Given the description of an element on the screen output the (x, y) to click on. 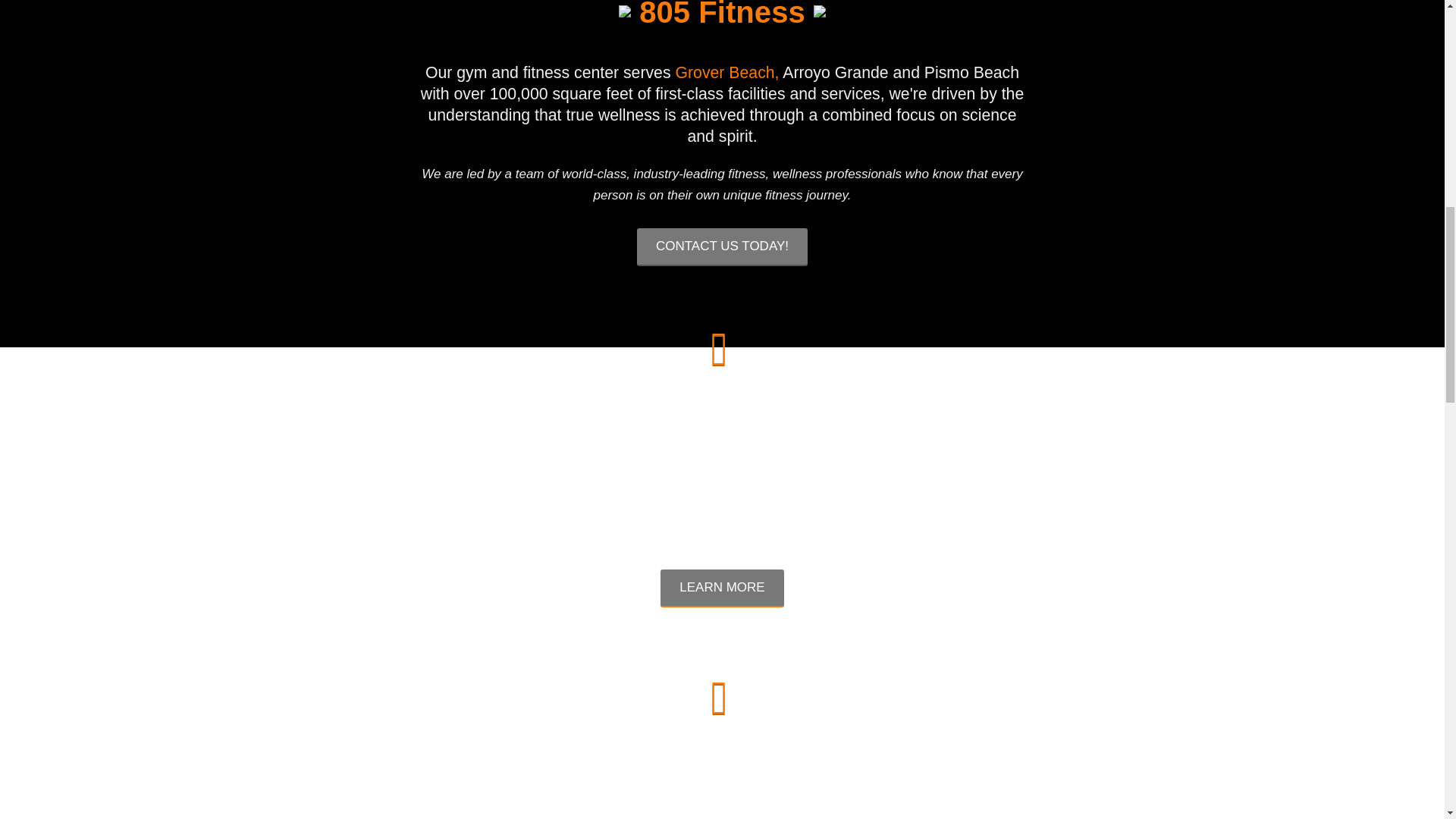
Grover Beach, (726, 72)
LEARN MORE (722, 588)
CONTACT US TODAY! (722, 247)
